Given the description of an element on the screen output the (x, y) to click on. 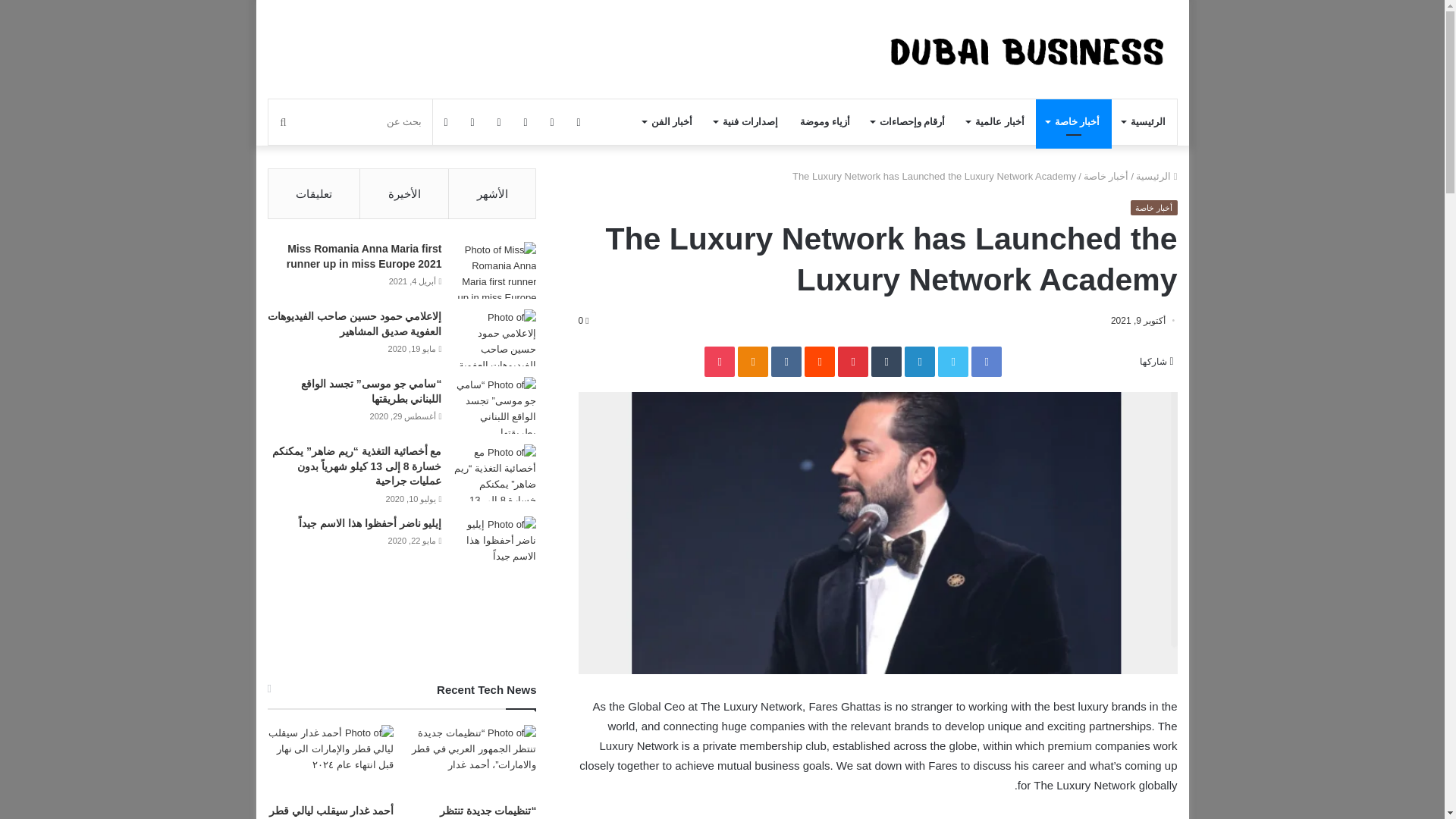
Reddit (819, 361)
Odnoklassniki (753, 361)
Facebook (986, 361)
Pinterest (852, 361)
LinkedIn (919, 361)
VKontakte (786, 361)
Twitter (952, 361)
dubai-business.net (1033, 48)
Pocket (719, 361)
Tumblr (885, 361)
